Given the description of an element on the screen output the (x, y) to click on. 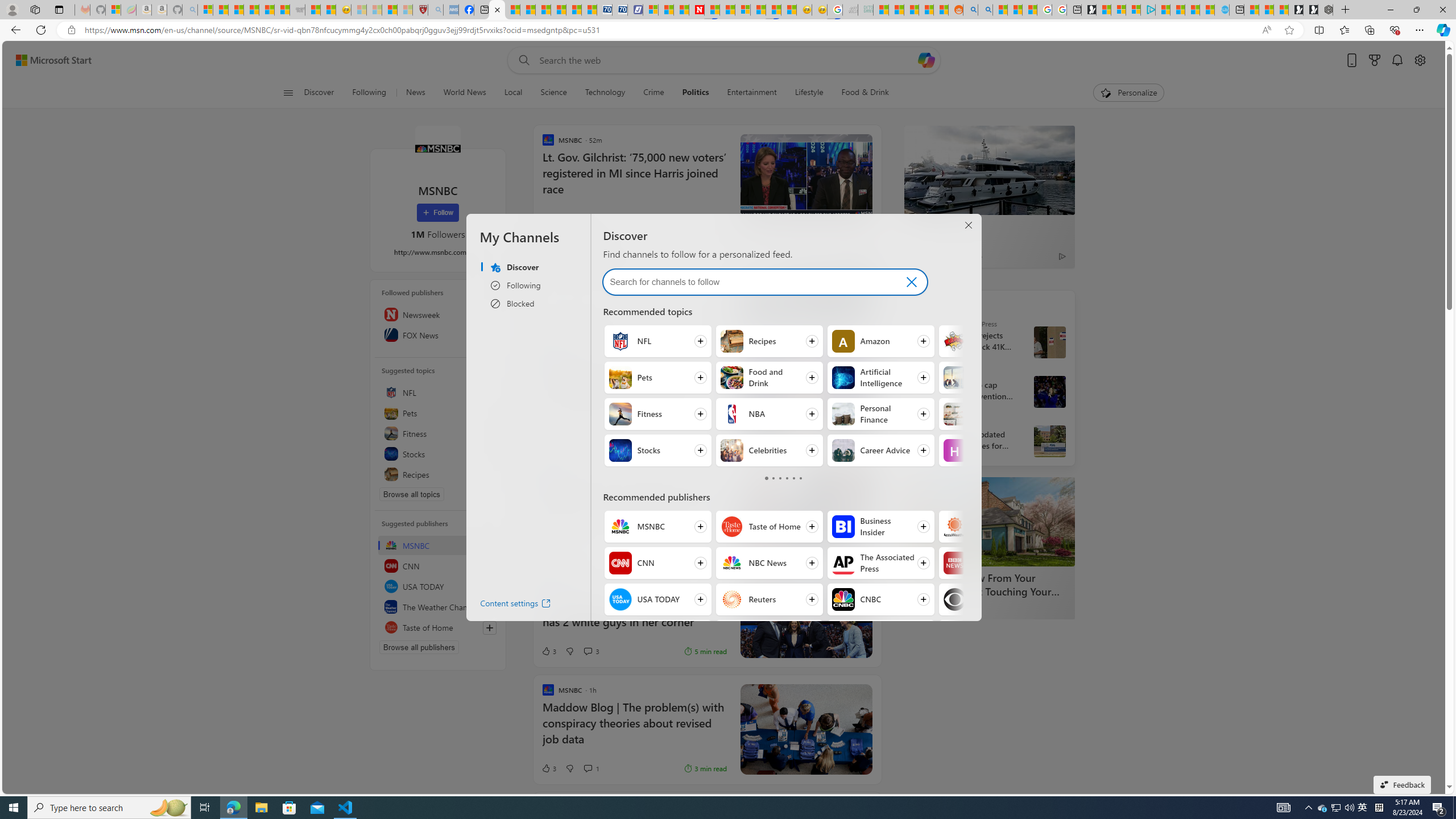
Skip to footer (46, 59)
USA TODAY (619, 599)
Science (553, 92)
6 Like (547, 432)
Follow Personal Finance (880, 413)
World News (464, 92)
Microsoft rewards (1374, 60)
Ad Choice (717, 318)
Web search (520, 60)
